Given the description of an element on the screen output the (x, y) to click on. 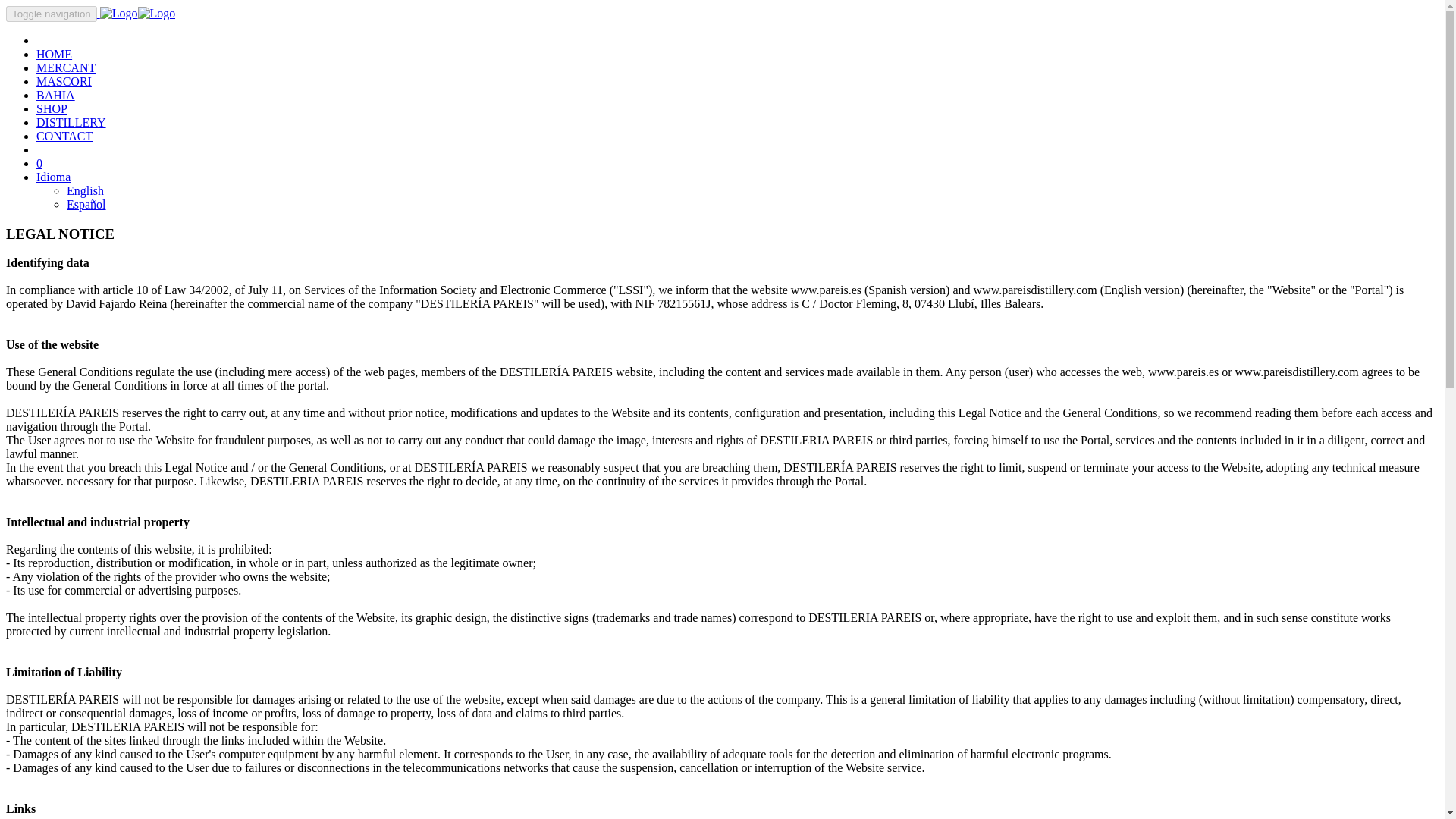
CONTACT (64, 135)
DISTILLERY (71, 122)
MERCANT (66, 67)
Idioma (52, 176)
0 (39, 163)
BAHIA (55, 94)
HOME (53, 53)
MASCORI (63, 81)
Toggle navigation (51, 13)
SHOP (51, 108)
English (84, 190)
